Given the description of an element on the screen output the (x, y) to click on. 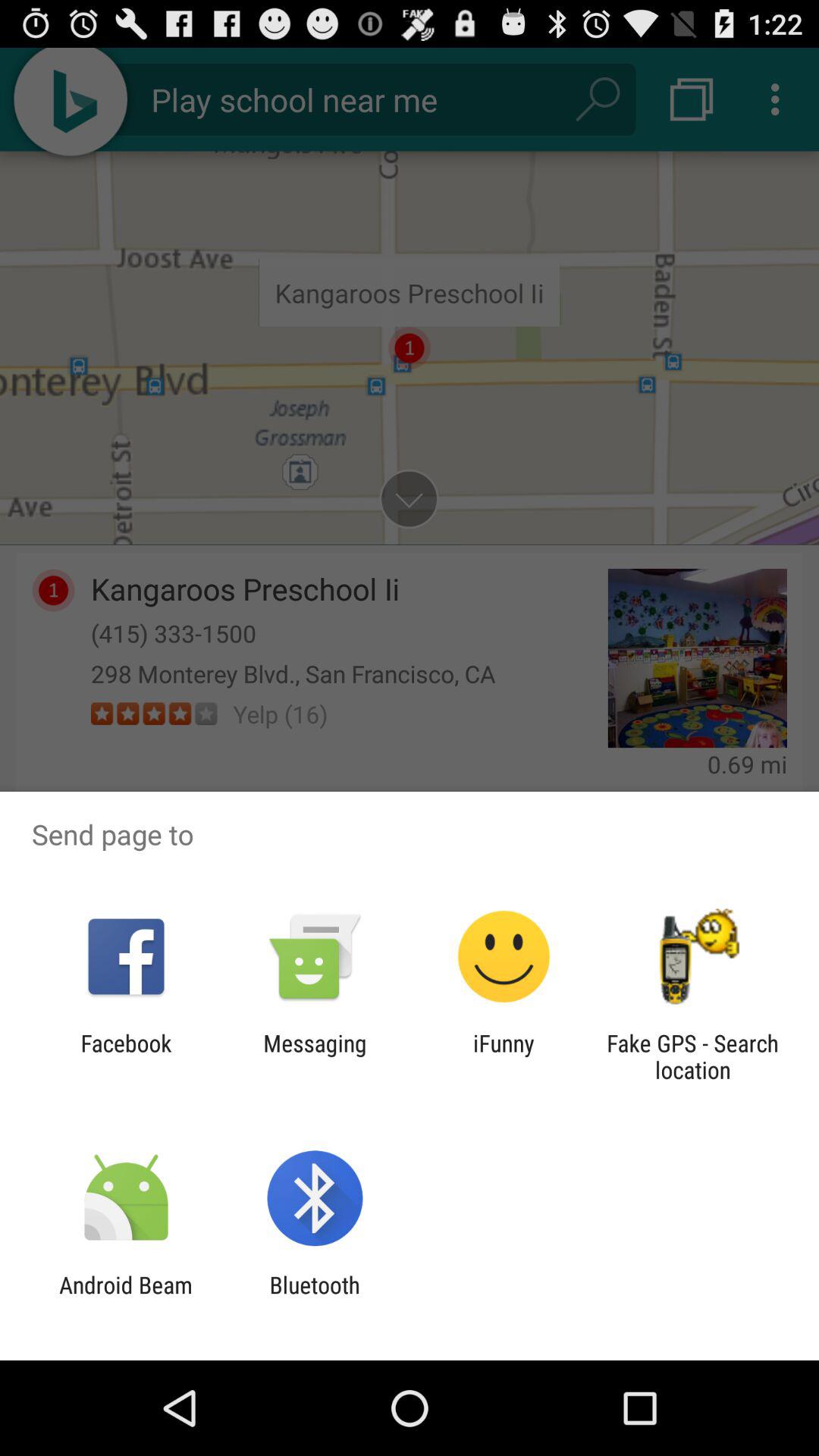
scroll to ifunny app (503, 1056)
